Given the description of an element on the screen output the (x, y) to click on. 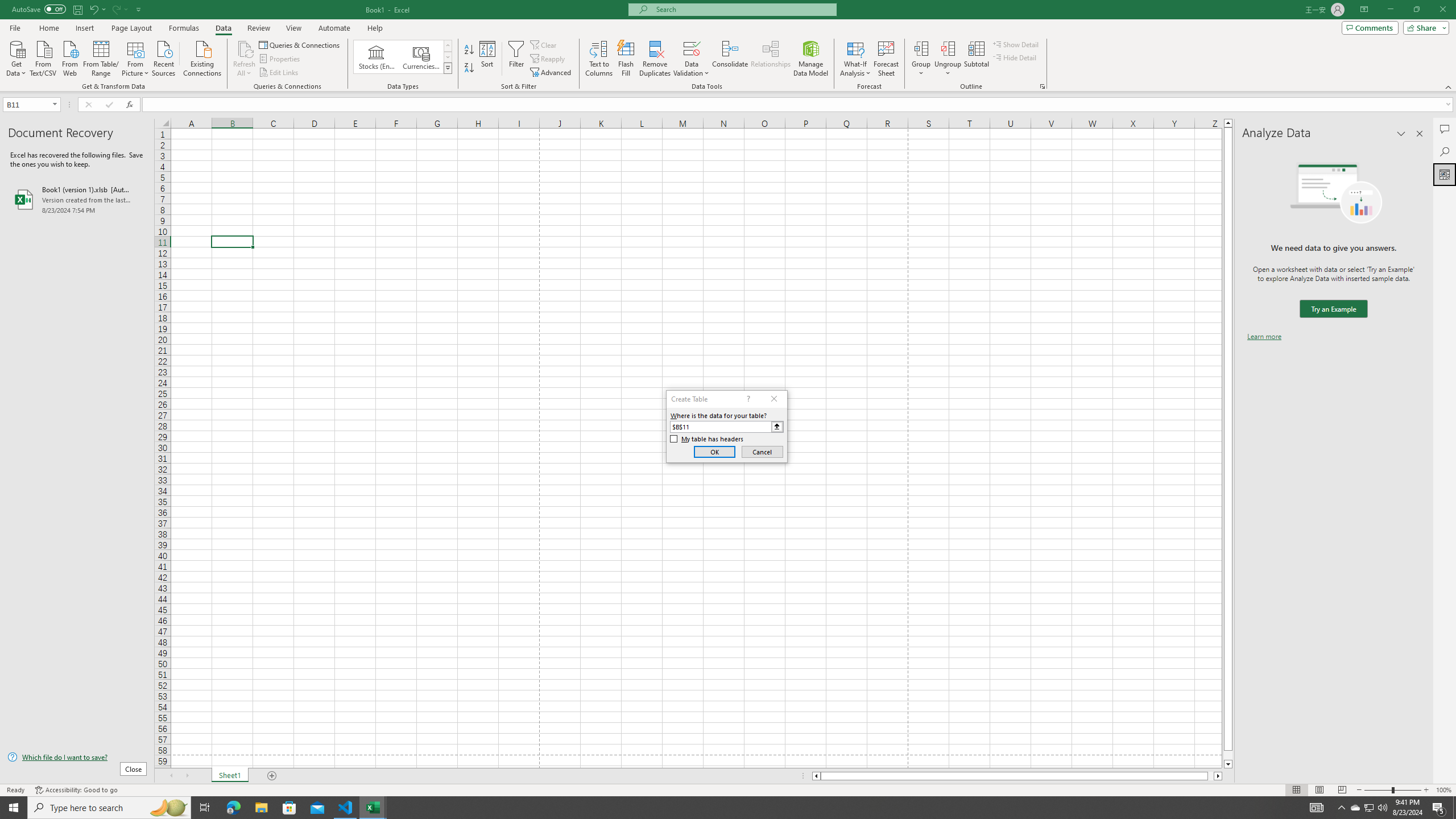
Analyze Data (1444, 173)
Edit Links (279, 72)
Reapply (548, 58)
Row up (448, 45)
Currencies (English) (420, 56)
